Given the description of an element on the screen output the (x, y) to click on. 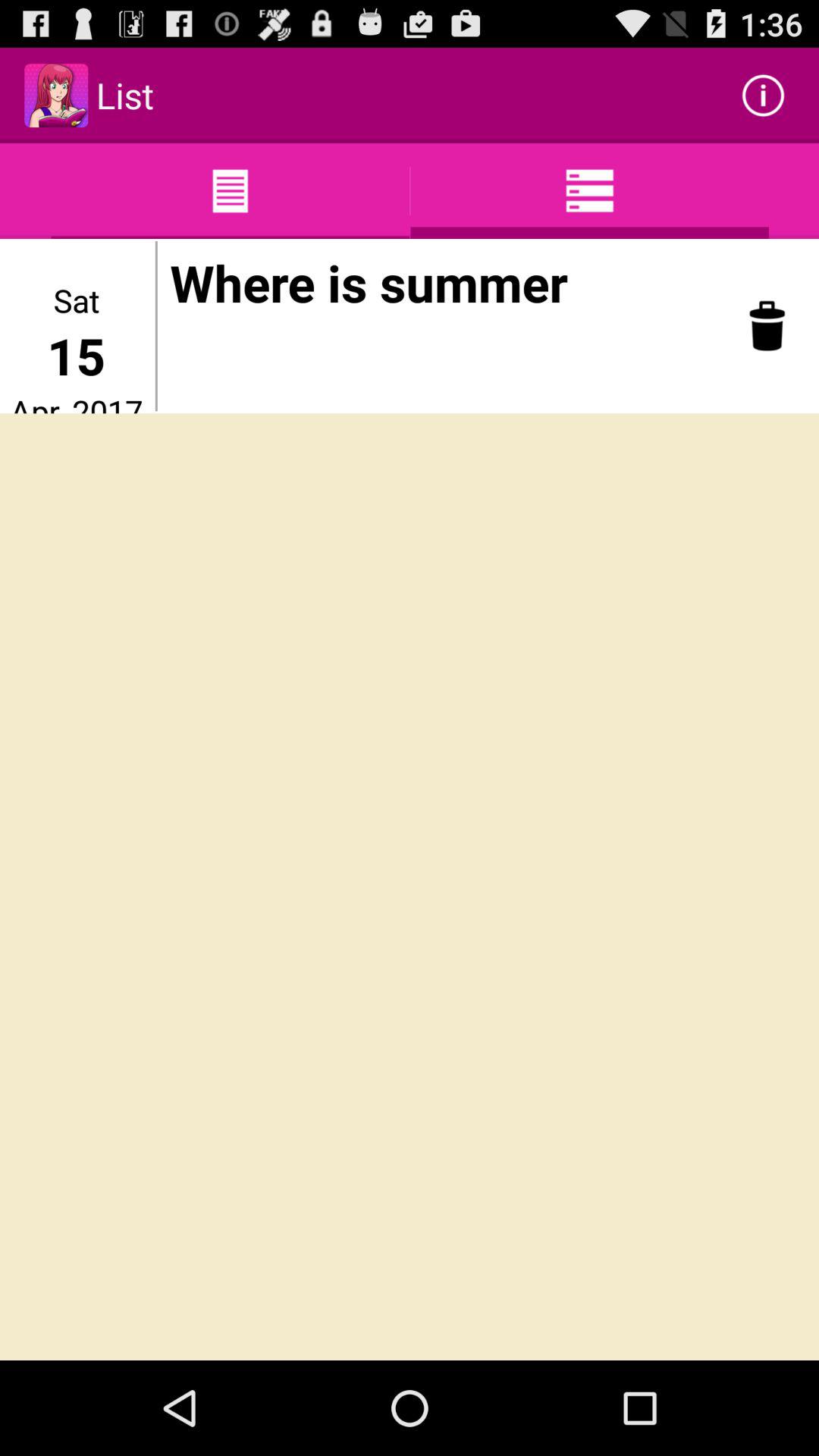
click icon to the right of where is summer item (767, 325)
